Given the description of an element on the screen output the (x, y) to click on. 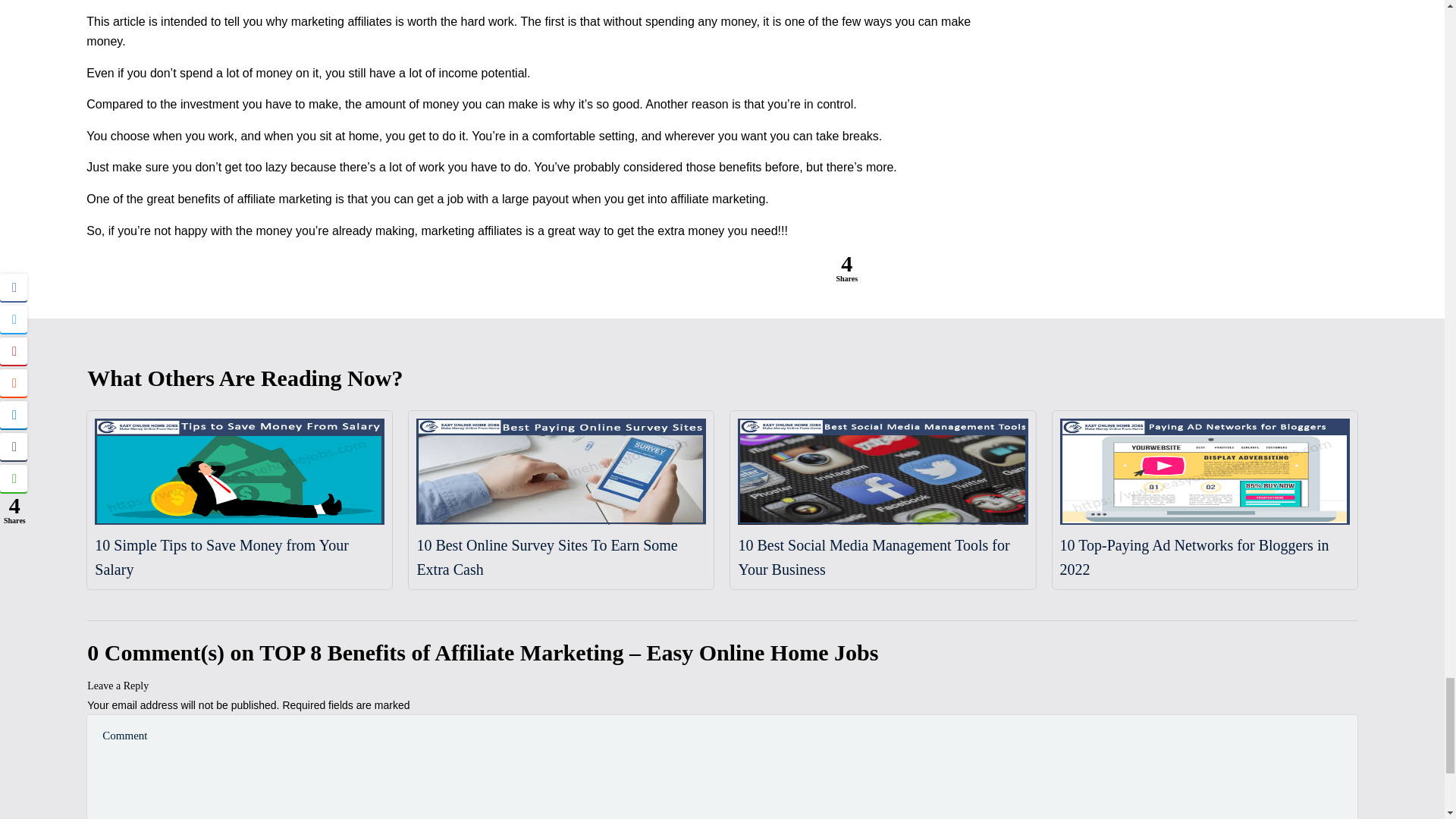
10 Top-Paying Ad Networks for Bloggers in 2022 (1194, 557)
10 Best Social Media Management Tools for Your Business (873, 557)
10 Best Online Survey Sites To Earn Some Extra Cash (546, 557)
10 Simple Tips to Save Money from Your Salary (221, 557)
